Given the description of an element on the screen output the (x, y) to click on. 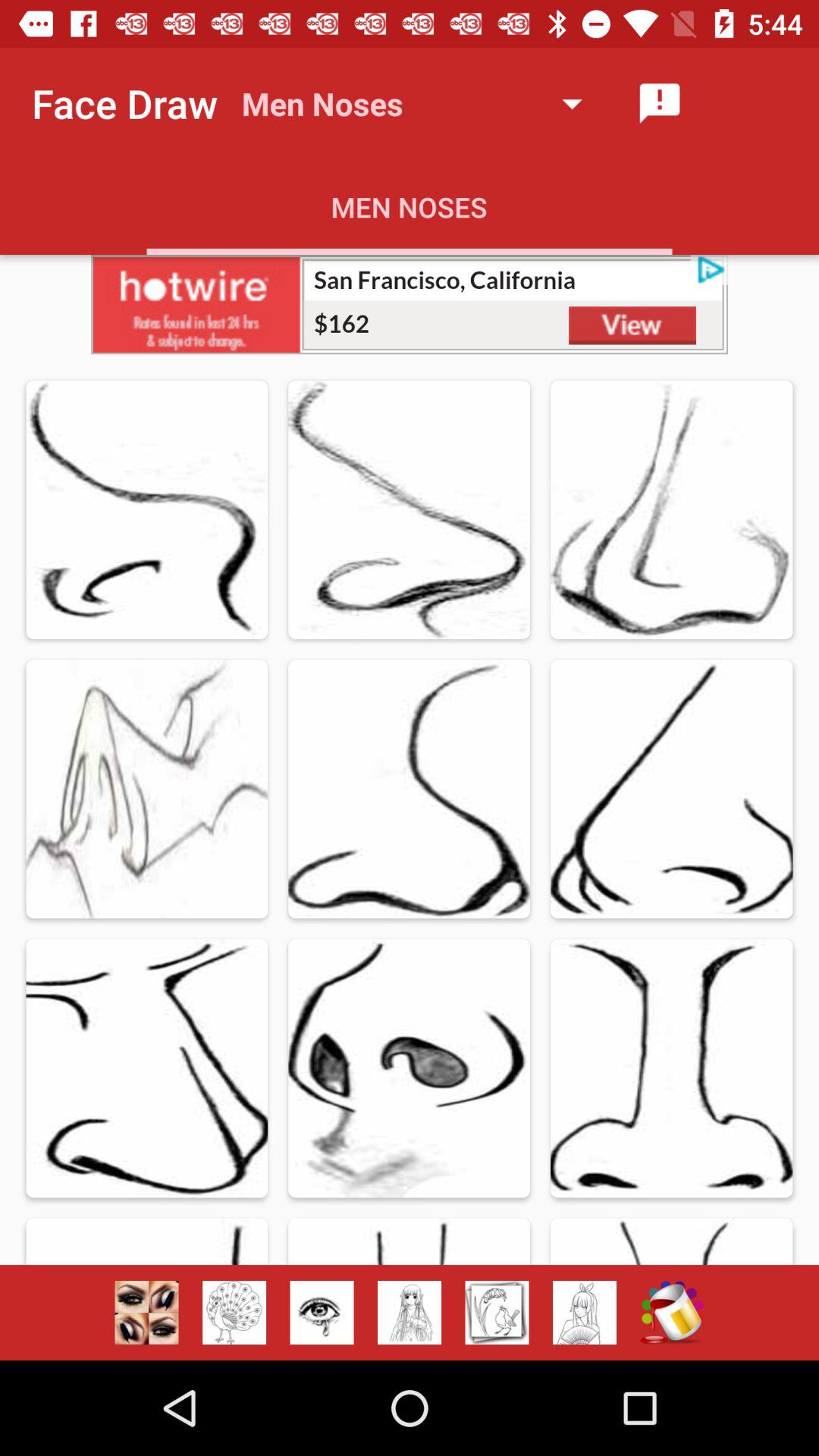
advertisent page (496, 1312)
